Given the description of an element on the screen output the (x, y) to click on. 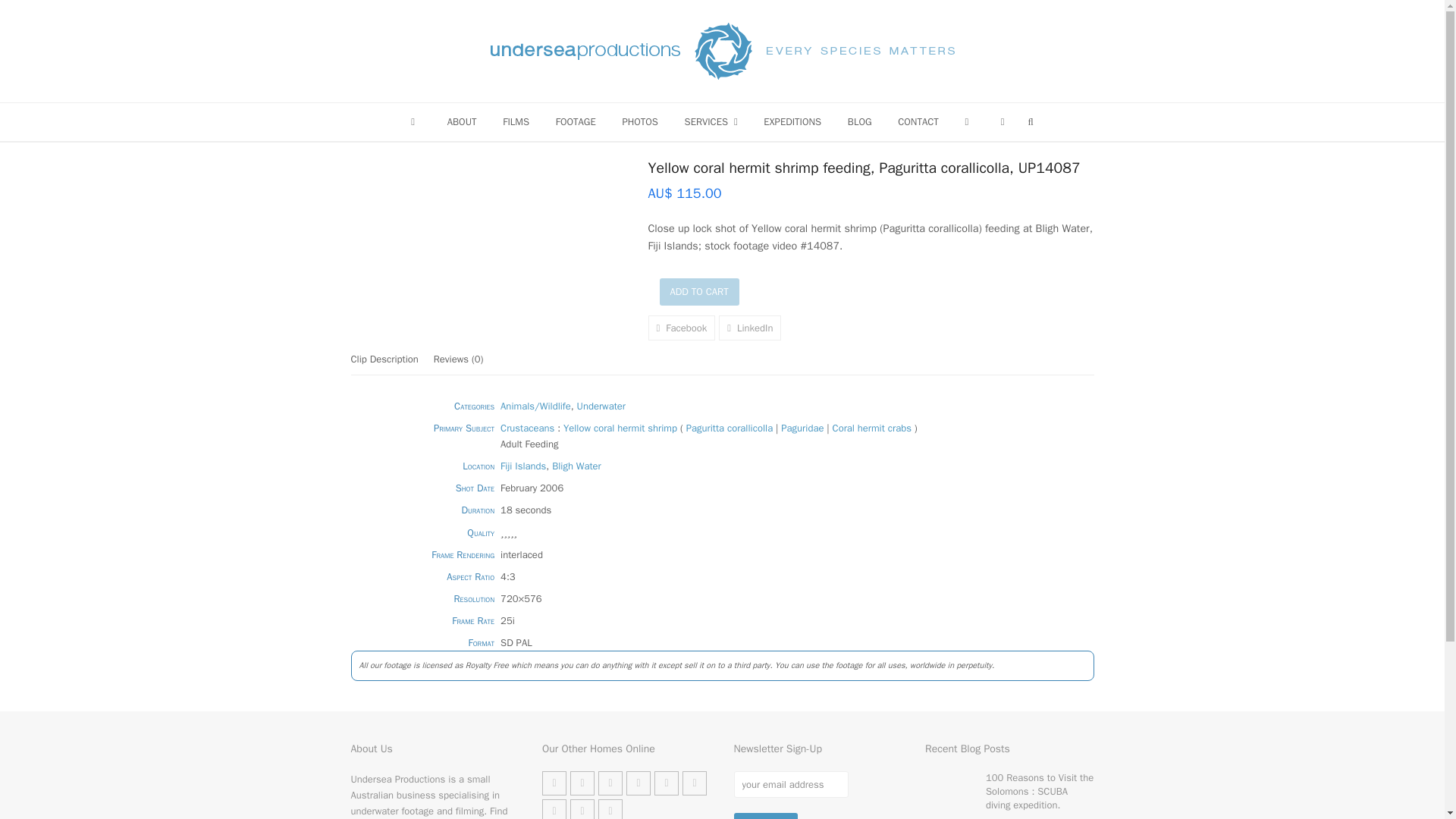
Amazon (582, 783)
BLOG (858, 121)
Subscribe (765, 816)
RSS (582, 809)
PHOTOS (639, 121)
FOOTAGE (575, 121)
SERVICES (710, 121)
Bligh Water (576, 465)
Facebook (610, 783)
LinkedIn (665, 783)
